Given the description of an element on the screen output the (x, y) to click on. 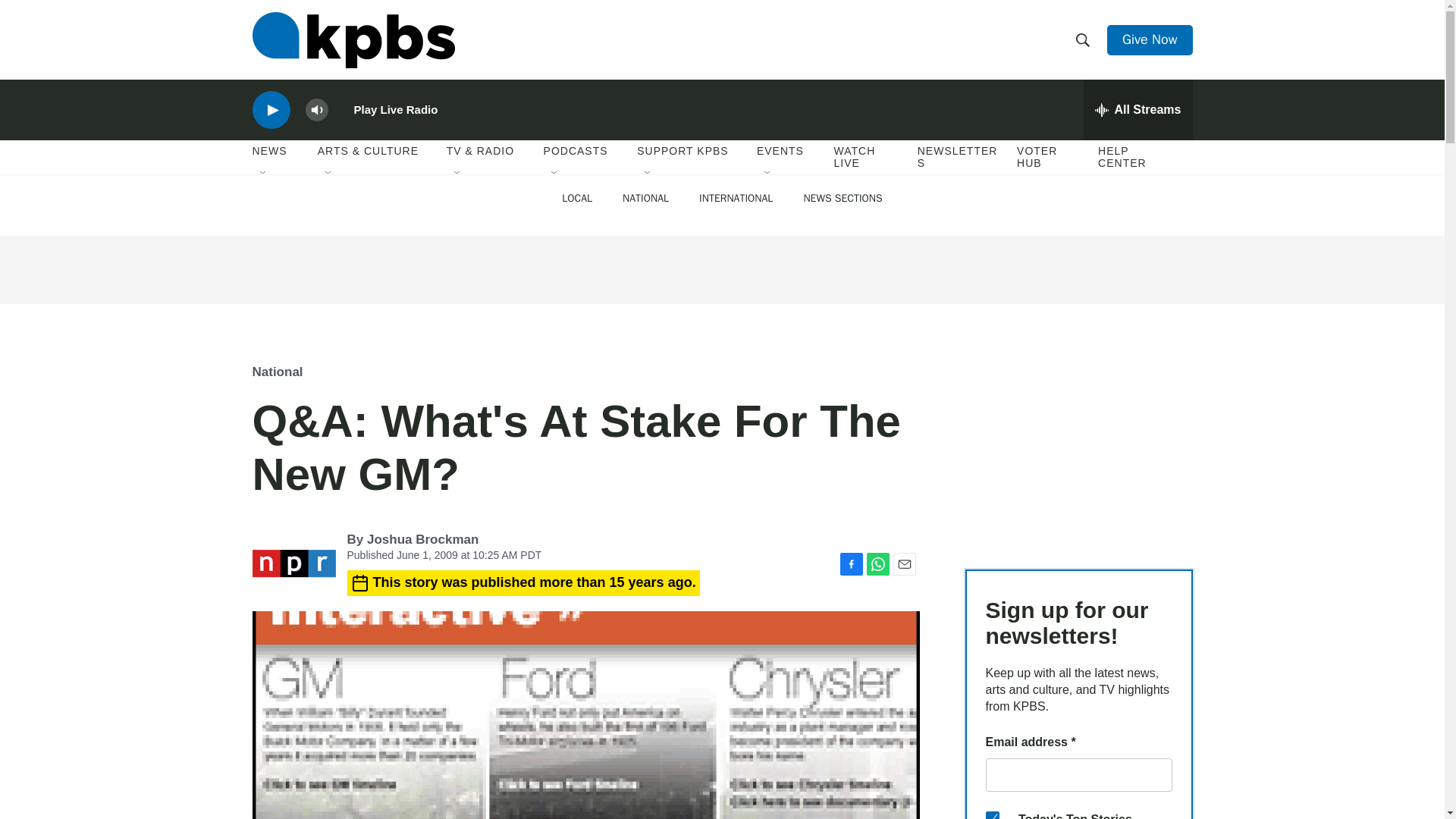
4 (991, 815)
3rd party ad content (721, 269)
3rd party ad content (1077, 443)
